Given the description of an element on the screen output the (x, y) to click on. 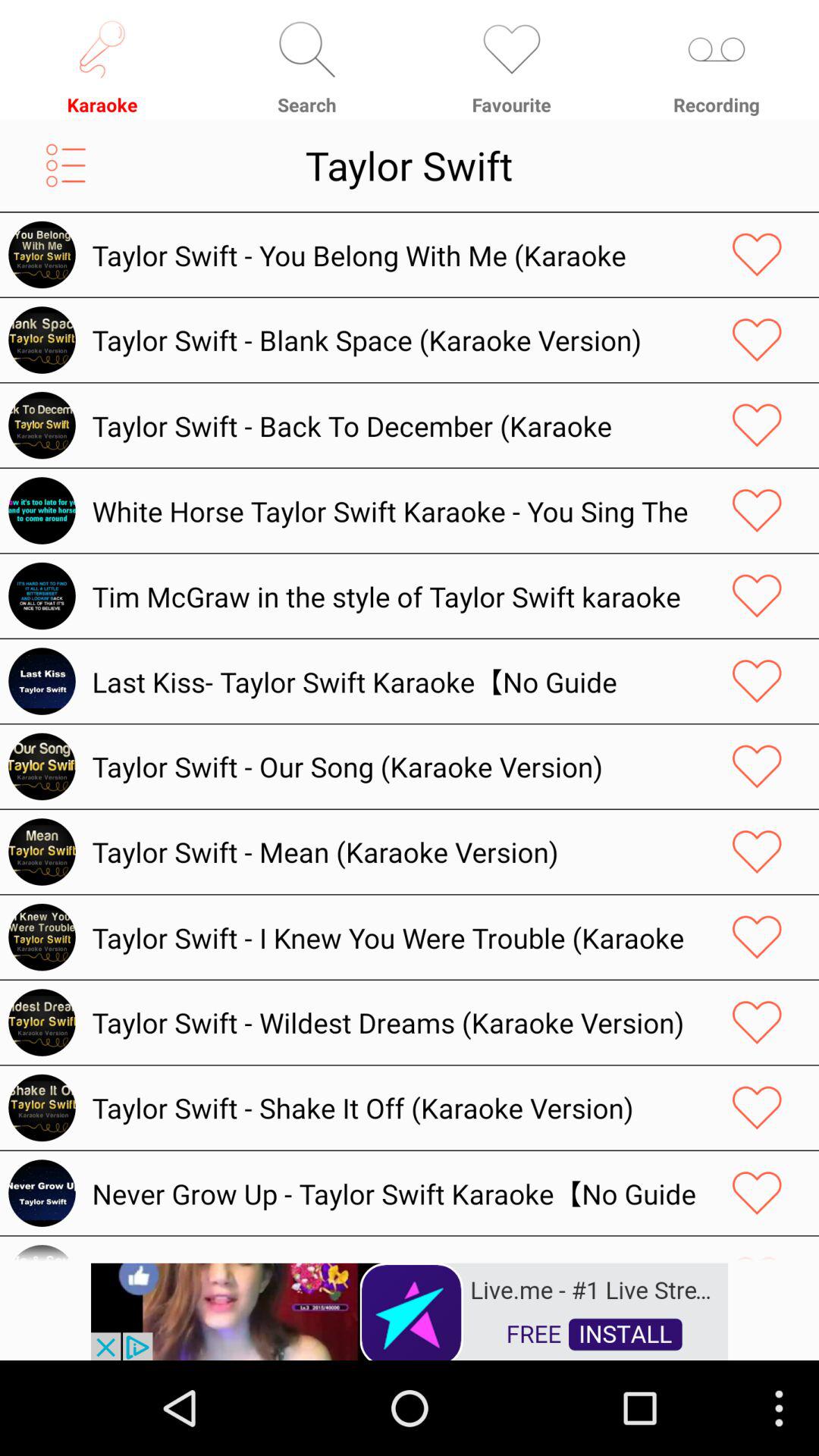
favorite song (756, 937)
